Given the description of an element on the screen output the (x, y) to click on. 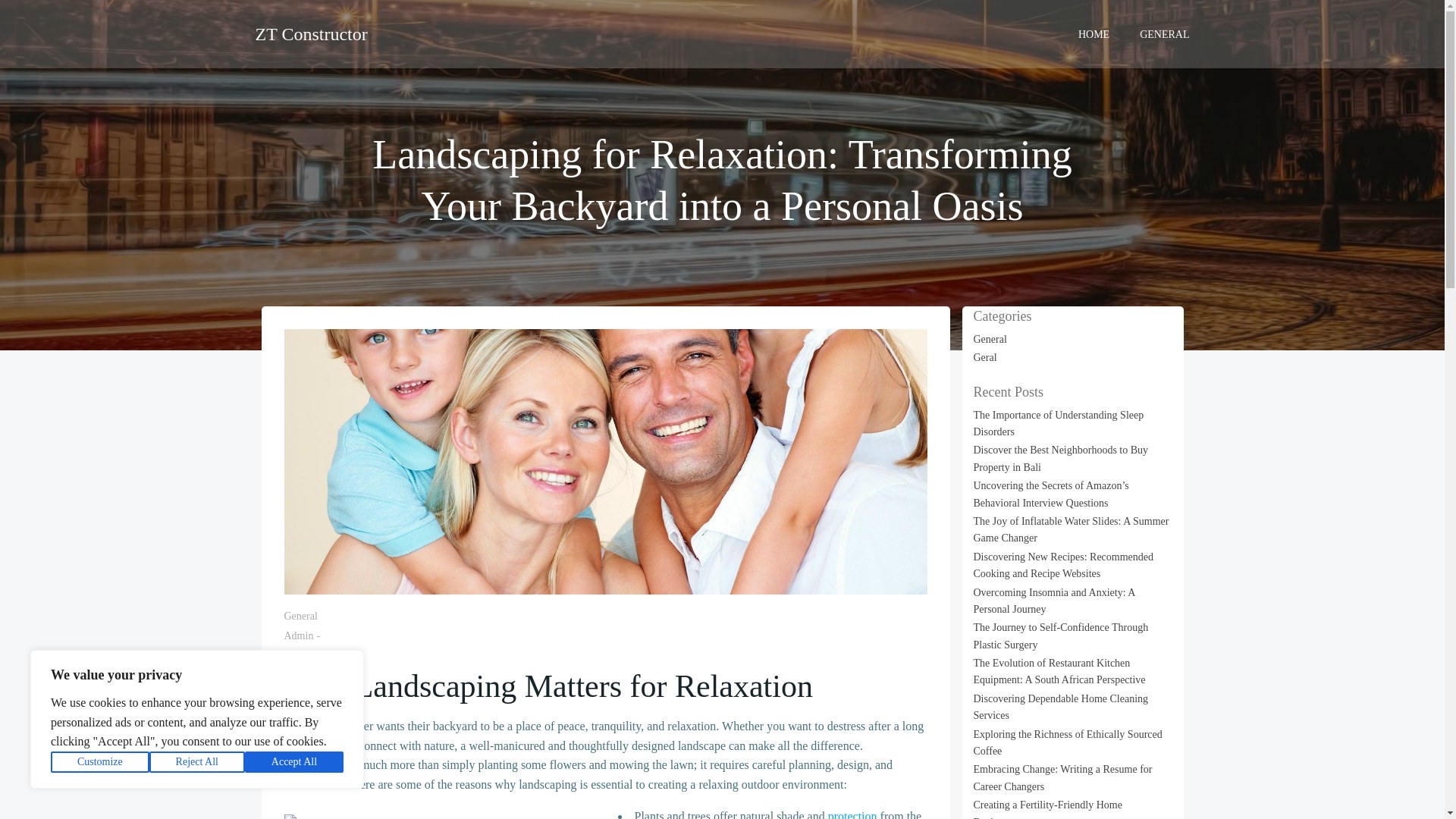
Accept All (293, 762)
GENERAL (1164, 33)
General (990, 338)
Discover the Best Neighborhoods to Buy Property in Bali (1061, 458)
Reject All (196, 762)
protection (852, 814)
The Importance of Understanding Sleep Disorders (1059, 423)
Customize (99, 762)
Geral (985, 357)
HOME (1093, 33)
